Given the description of an element on the screen output the (x, y) to click on. 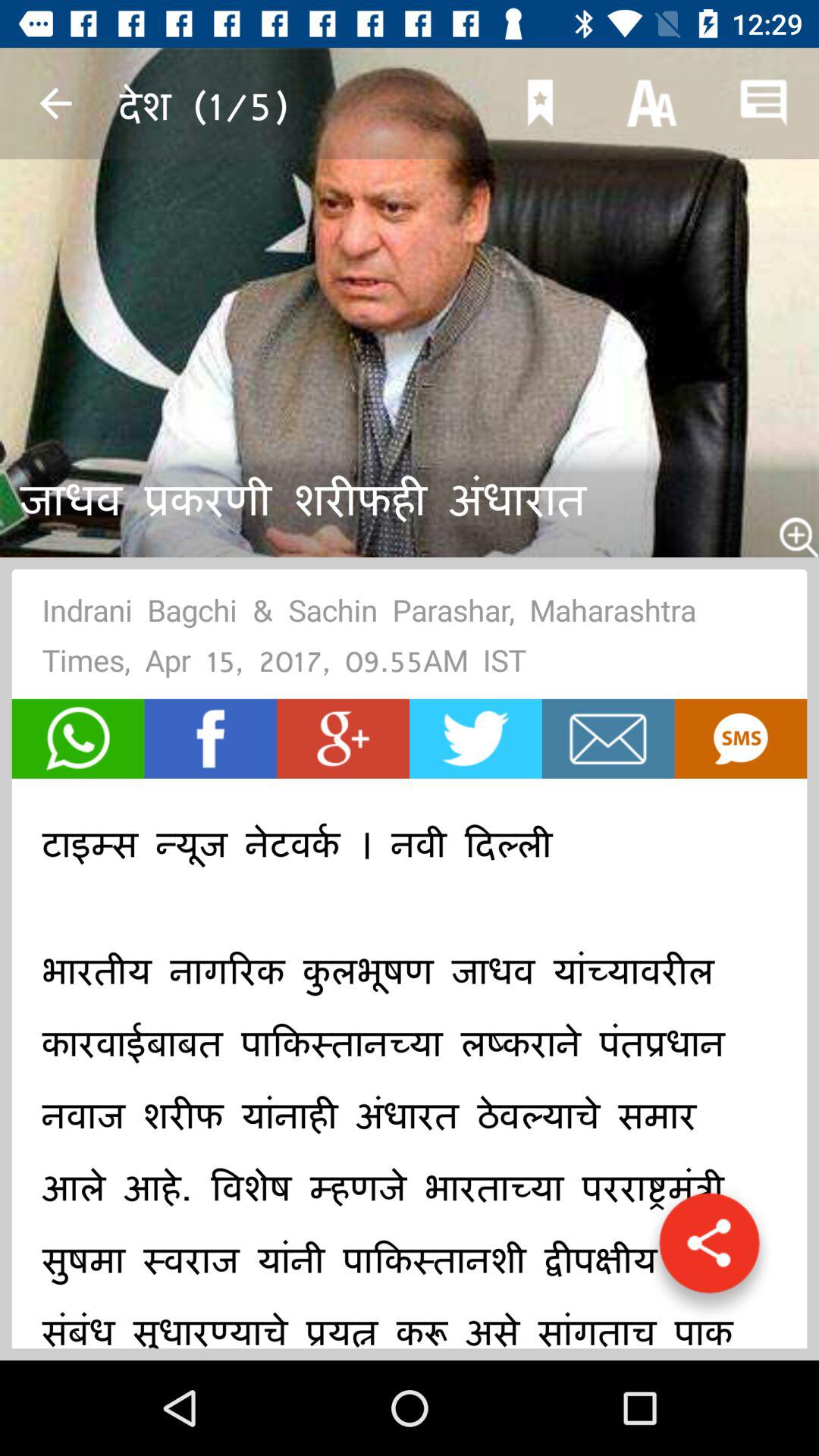
messages (608, 738)
